Given the description of an element on the screen output the (x, y) to click on. 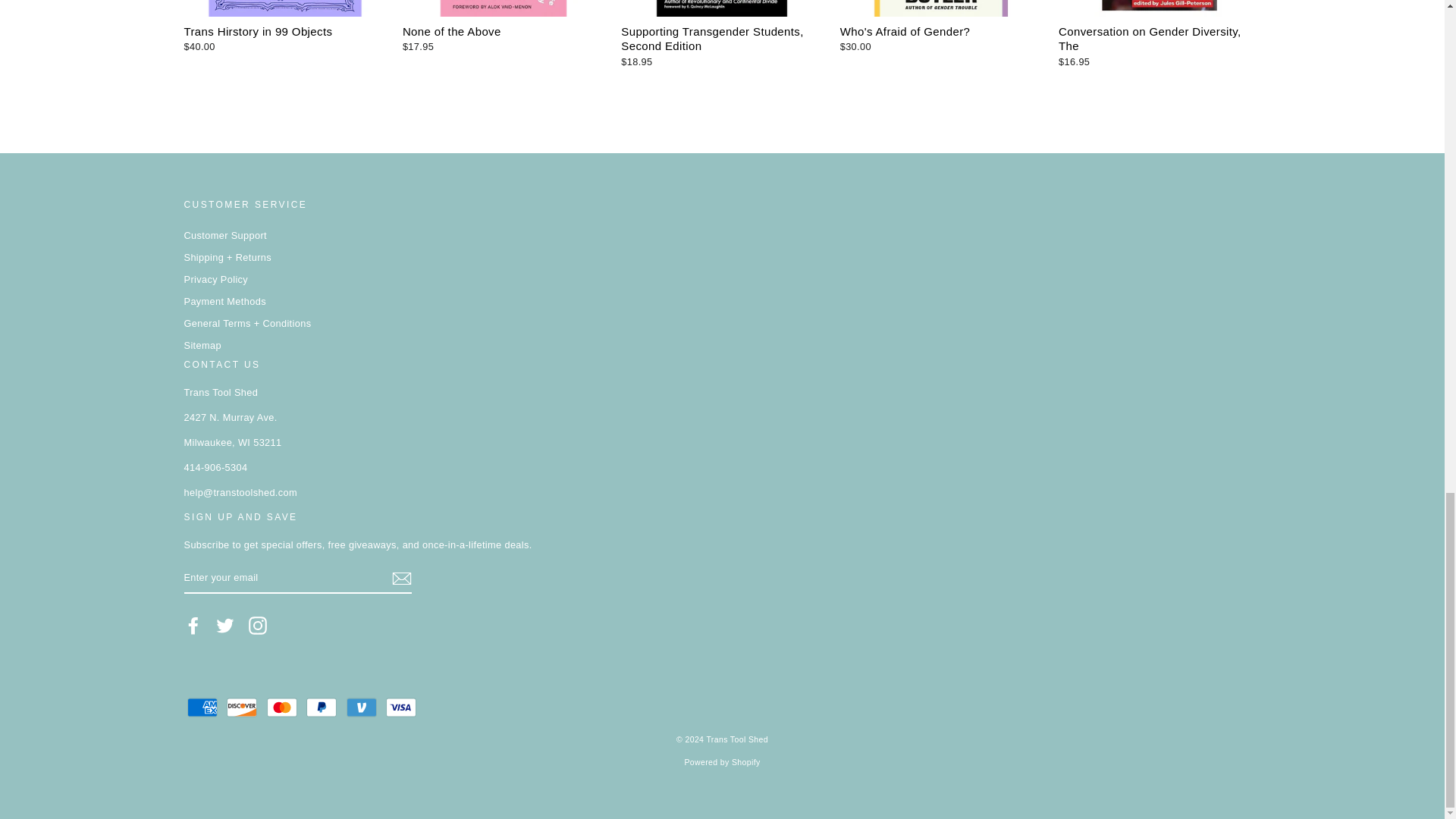
American Express (201, 707)
Trans Tool Shed on Facebook (192, 625)
Trans Tool Shed on Instagram (257, 625)
Trans Tool Shed on Twitter (224, 625)
